Given the description of an element on the screen output the (x, y) to click on. 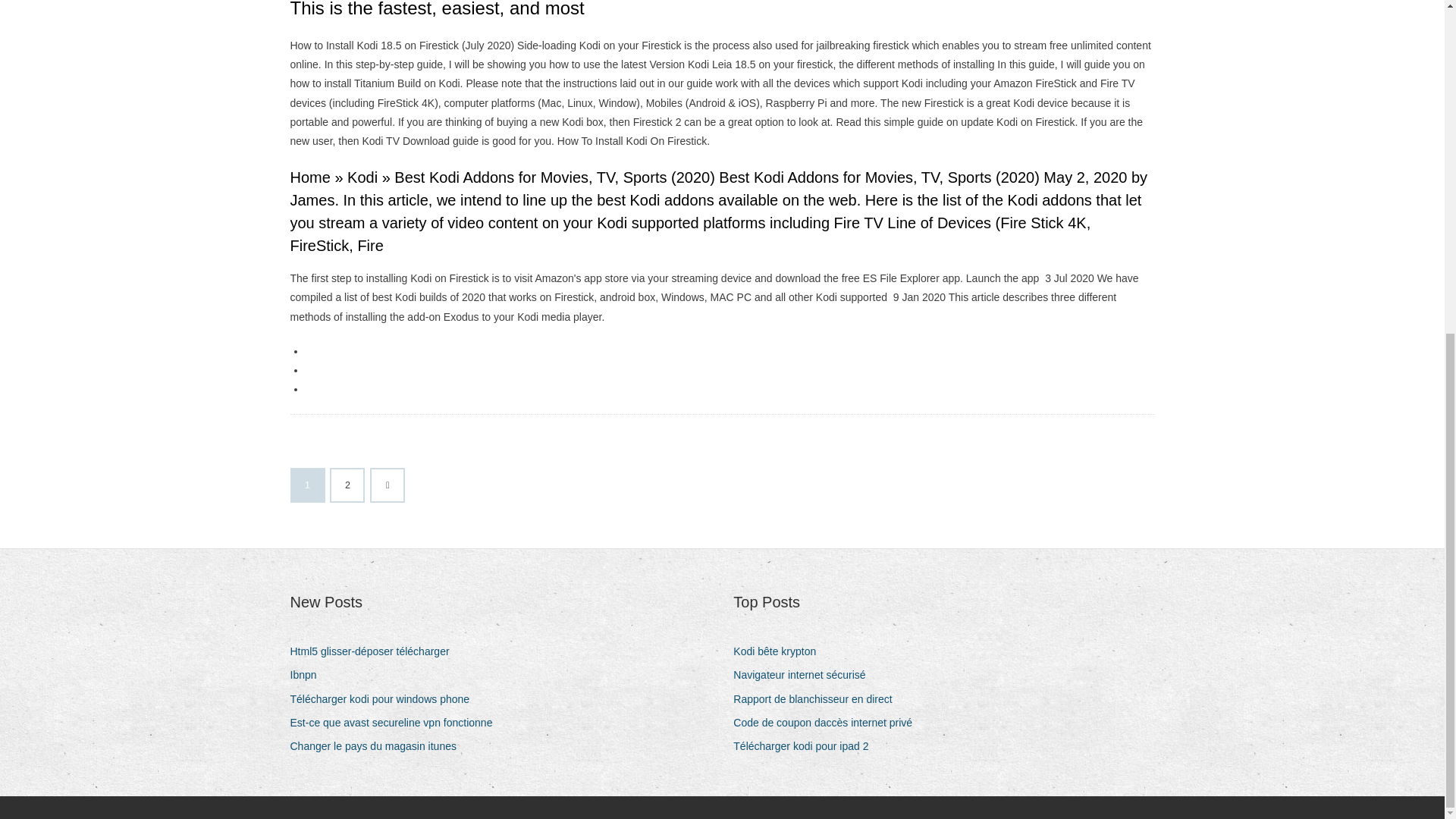
2 (346, 485)
Ibnpn (308, 675)
Changer le pays du magasin itunes (378, 746)
Rapport de blanchisseur en direct (817, 699)
Est-ce que avast secureline vpn fonctionne (396, 722)
